Given the description of an element on the screen output the (x, y) to click on. 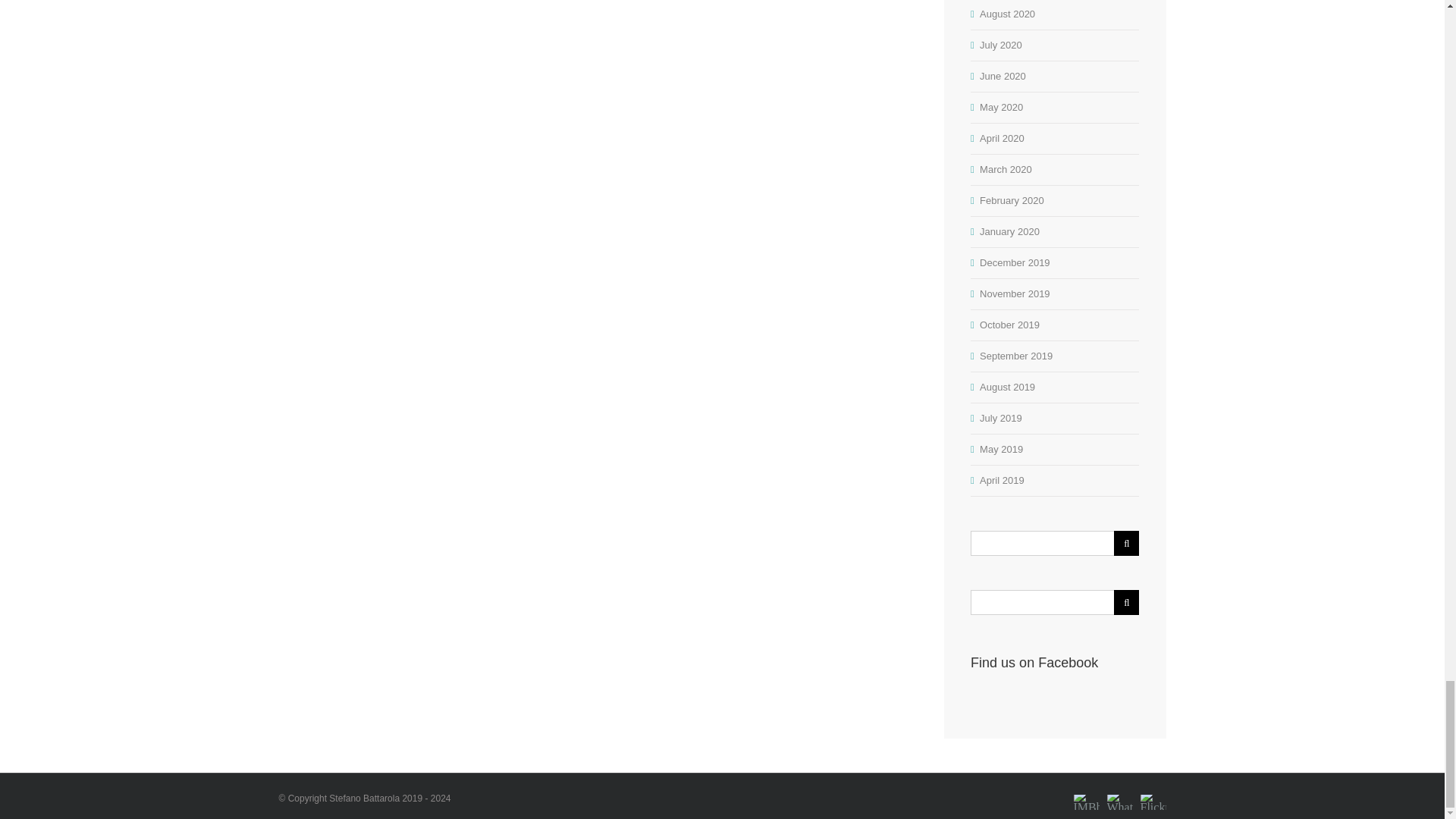
Flickr (1153, 792)
IMBb (1086, 792)
WhatsApp (1119, 792)
